Given the description of an element on the screen output the (x, y) to click on. 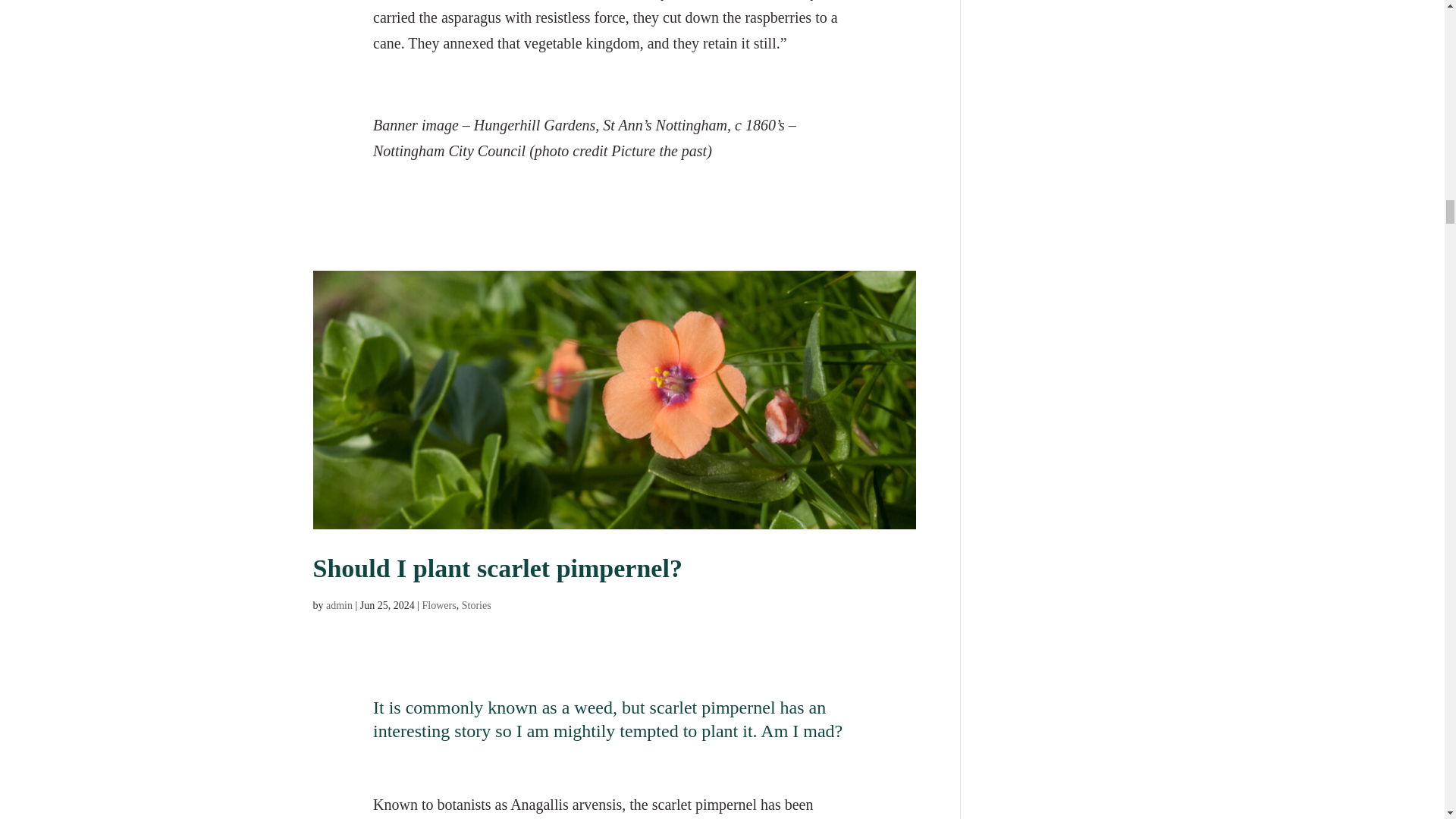
Stories (476, 604)
Flowers (439, 604)
admin (339, 604)
Posts by admin (339, 604)
Should I plant scarlet pimpernel? (497, 568)
